Given the description of an element on the screen output the (x, y) to click on. 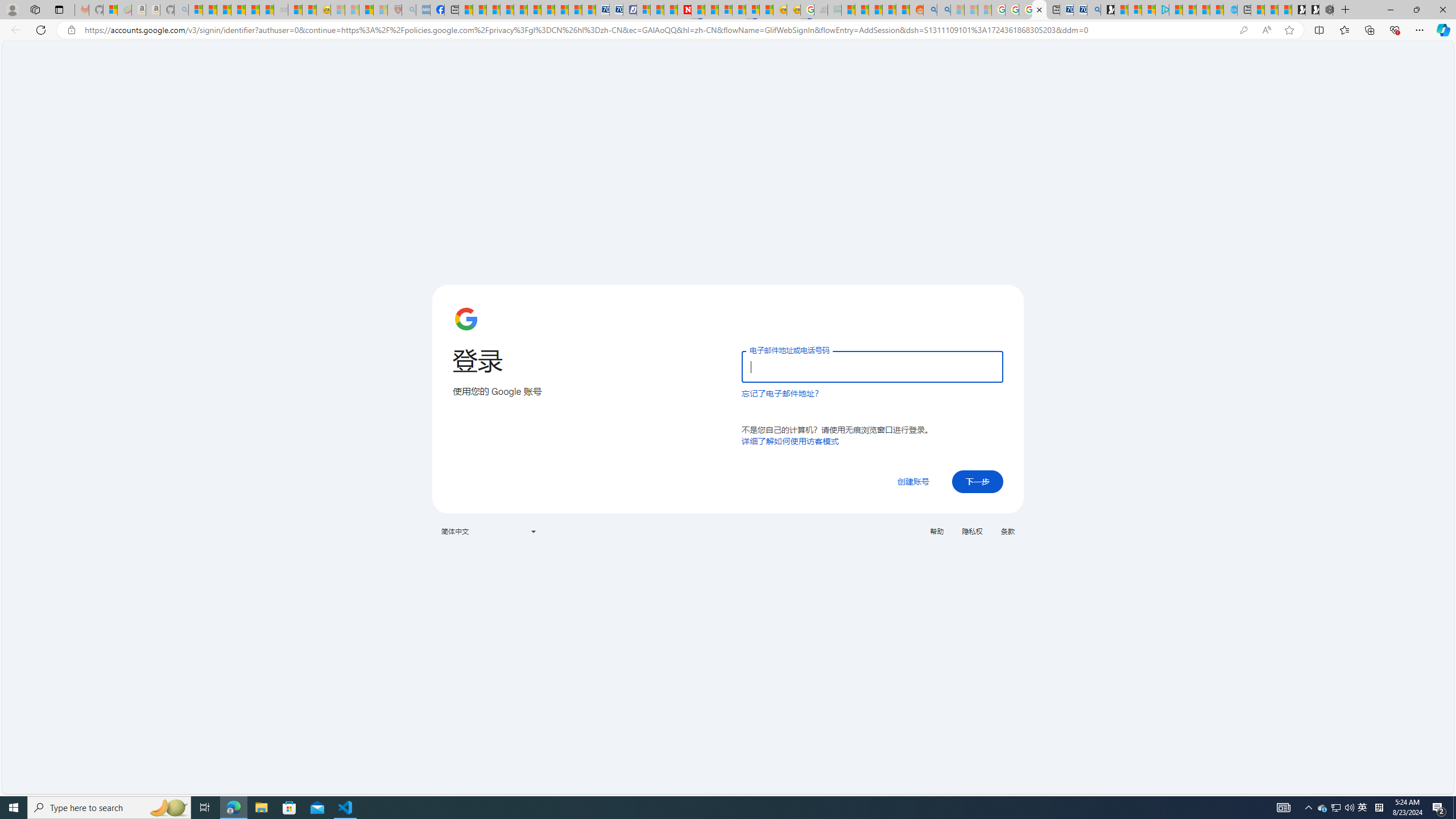
Manage your passwords (1243, 29)
New Report Confirms 2023 Was Record Hot | Watch (252, 9)
